Given the description of an element on the screen output the (x, y) to click on. 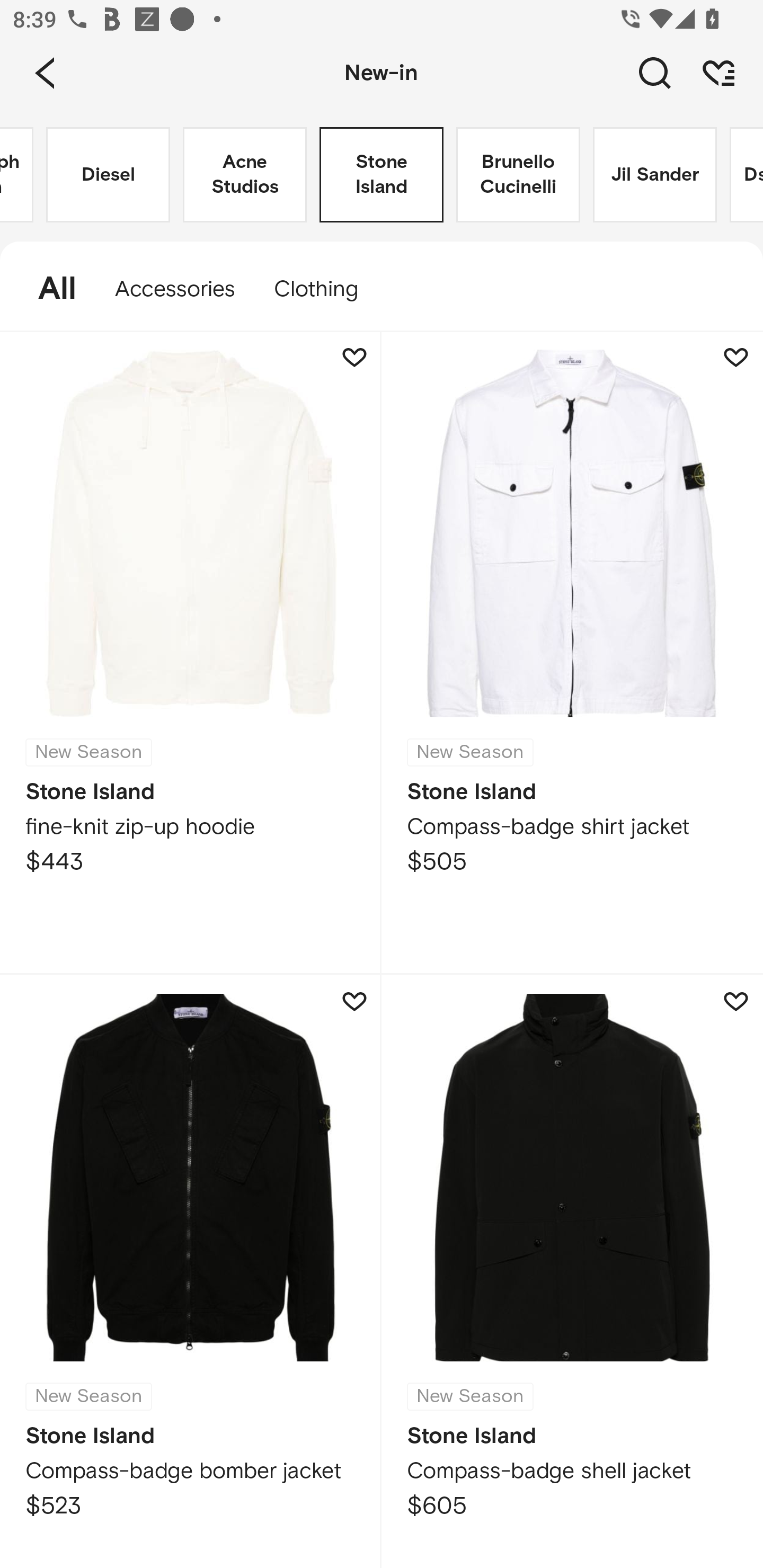
Diesel (107, 174)
Acne Studios (244, 174)
Stone Island (381, 174)
Brunello Cucinelli (517, 174)
Jil Sander (654, 174)
All (47, 288)
Accessories (174, 288)
Clothing (324, 288)
